Given the description of an element on the screen output the (x, y) to click on. 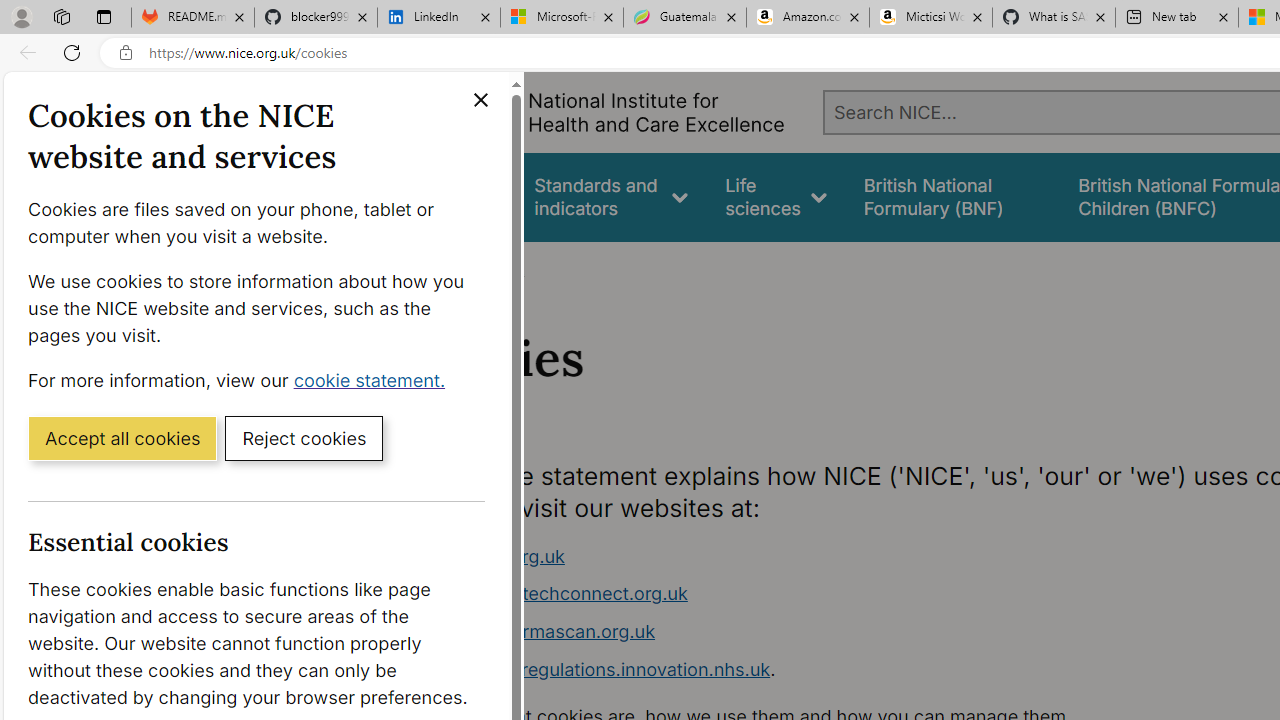
About (498, 268)
www.healthtechconnect.org.uk (554, 593)
www.ukpharmascan.org.uk (538, 631)
www.nice.org.uk (492, 556)
Guidance (458, 196)
false (952, 196)
Life sciences (776, 196)
Home> (433, 268)
Microsoft-Report a Concern to Bing (561, 17)
